Given the description of an element on the screen output the (x, y) to click on. 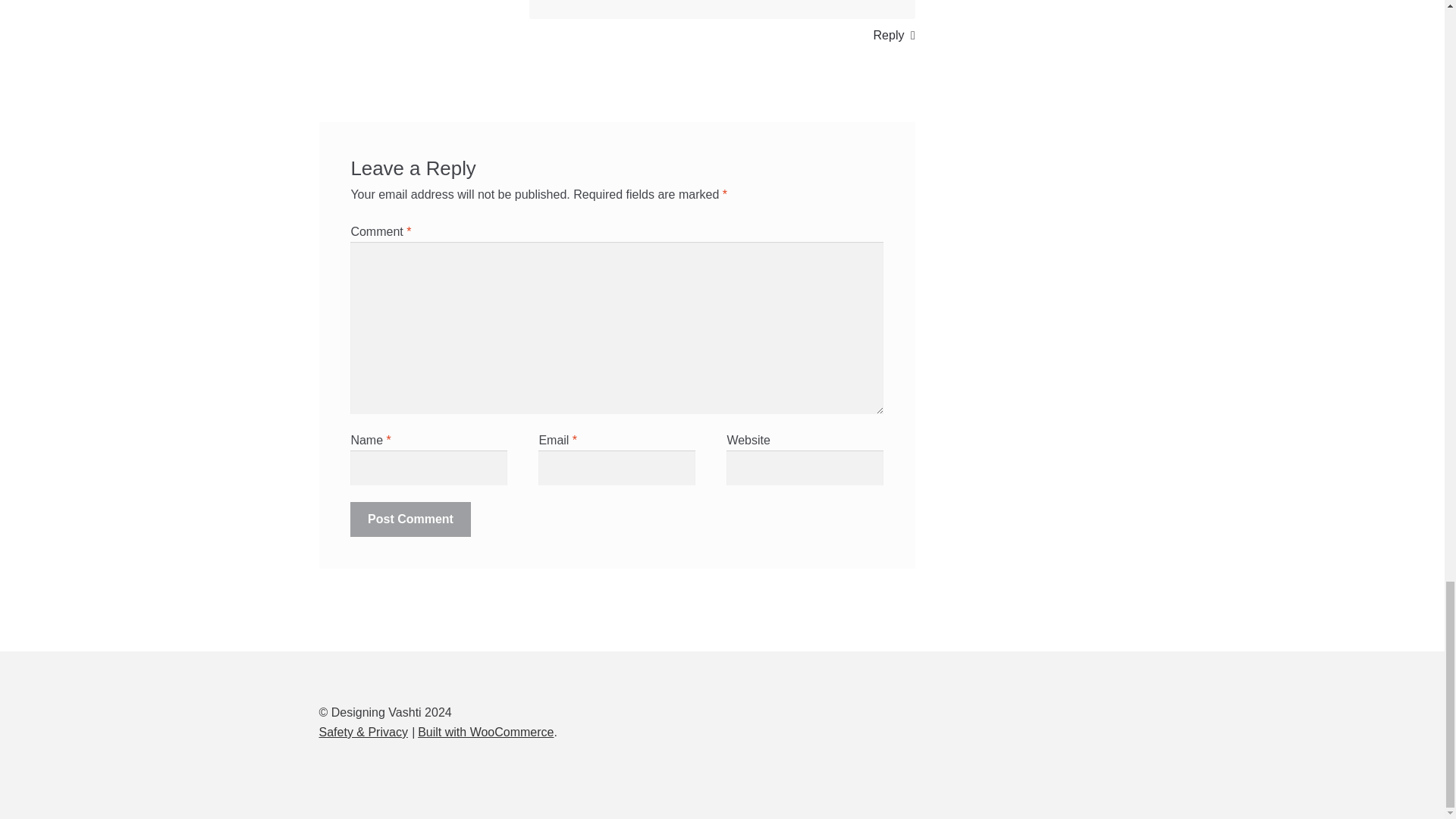
Post Comment (410, 519)
WooCommerce - The Best eCommerce Platform for WordPress (485, 731)
